Given the description of an element on the screen output the (x, y) to click on. 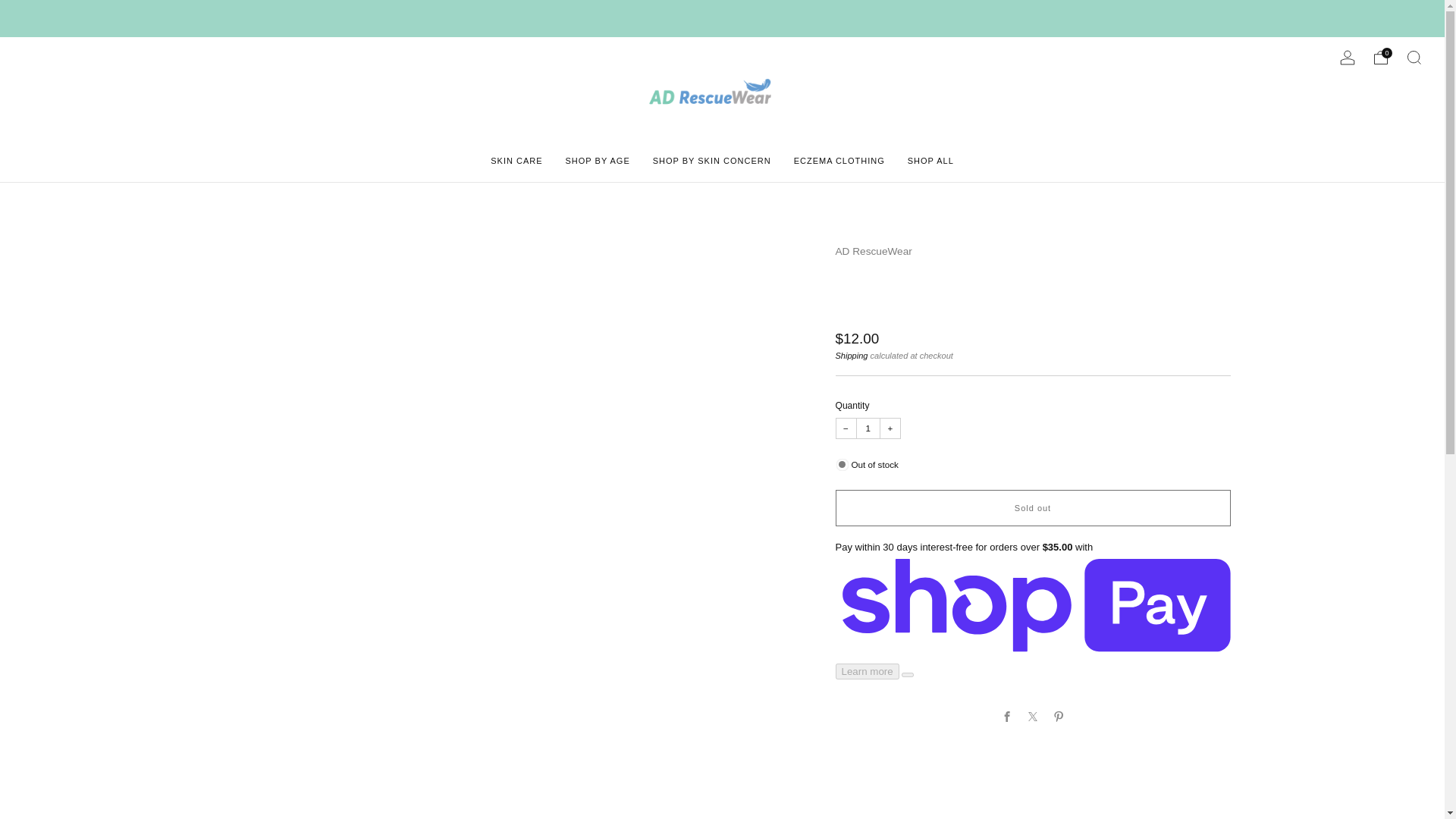
SKIN CARE (515, 160)
SHOP BY SKIN CONCERN (711, 160)
SHOP ALL (930, 160)
AD RescueWear (873, 251)
1 (868, 428)
SHOP BY AGE (598, 160)
ECZEMA CLOTHING (839, 160)
